Given the description of an element on the screen output the (x, y) to click on. 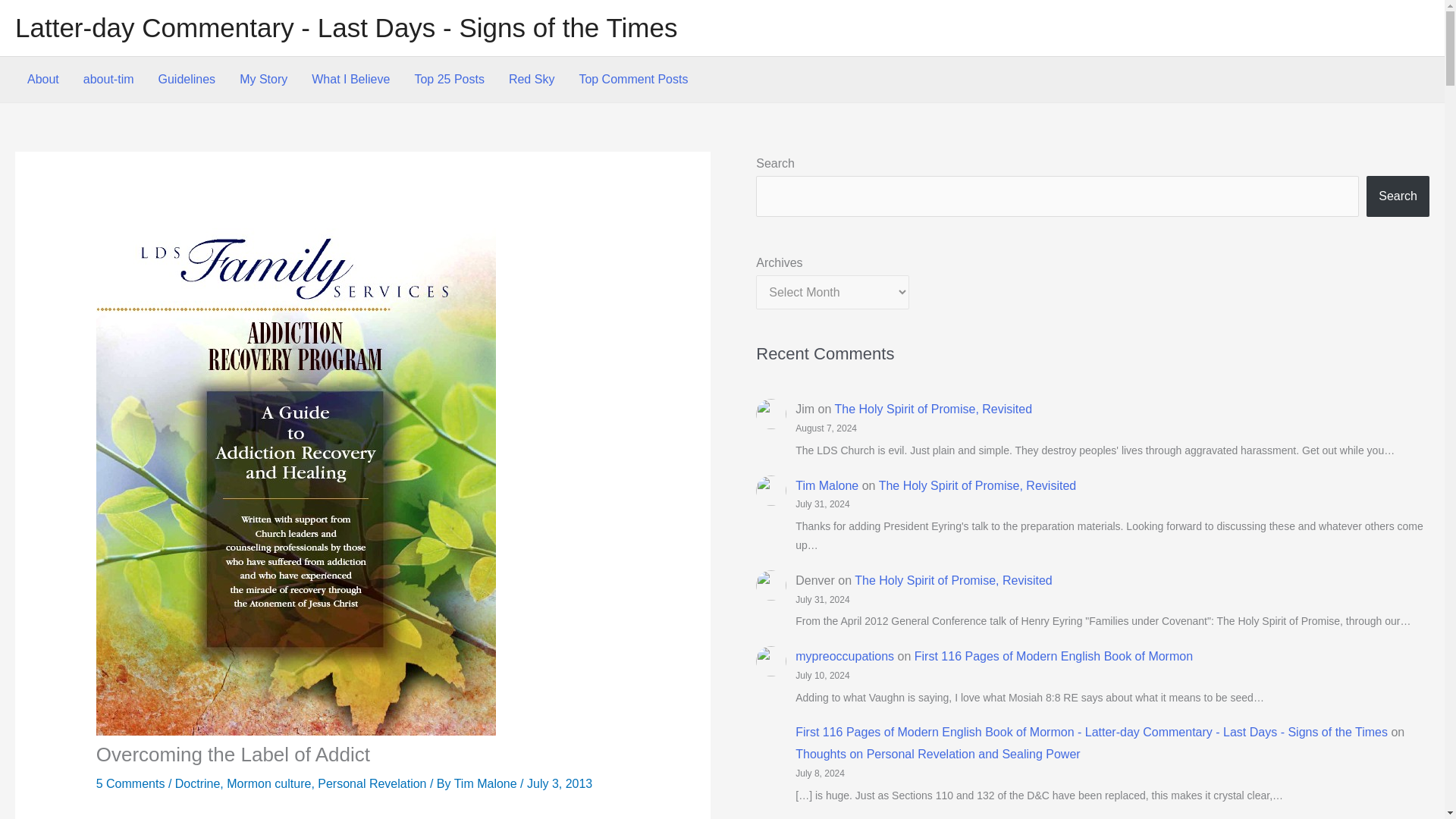
Personal Revelation (371, 783)
Top 25 Posts (448, 79)
Latter-day Commentary - Last Days - Signs of the Times (345, 27)
Tim Malone (486, 783)
About (42, 79)
about-tim (109, 79)
5 Comments (130, 783)
Guidelines (187, 79)
What I Believe (350, 79)
Doctrine (197, 783)
